Given the description of an element on the screen output the (x, y) to click on. 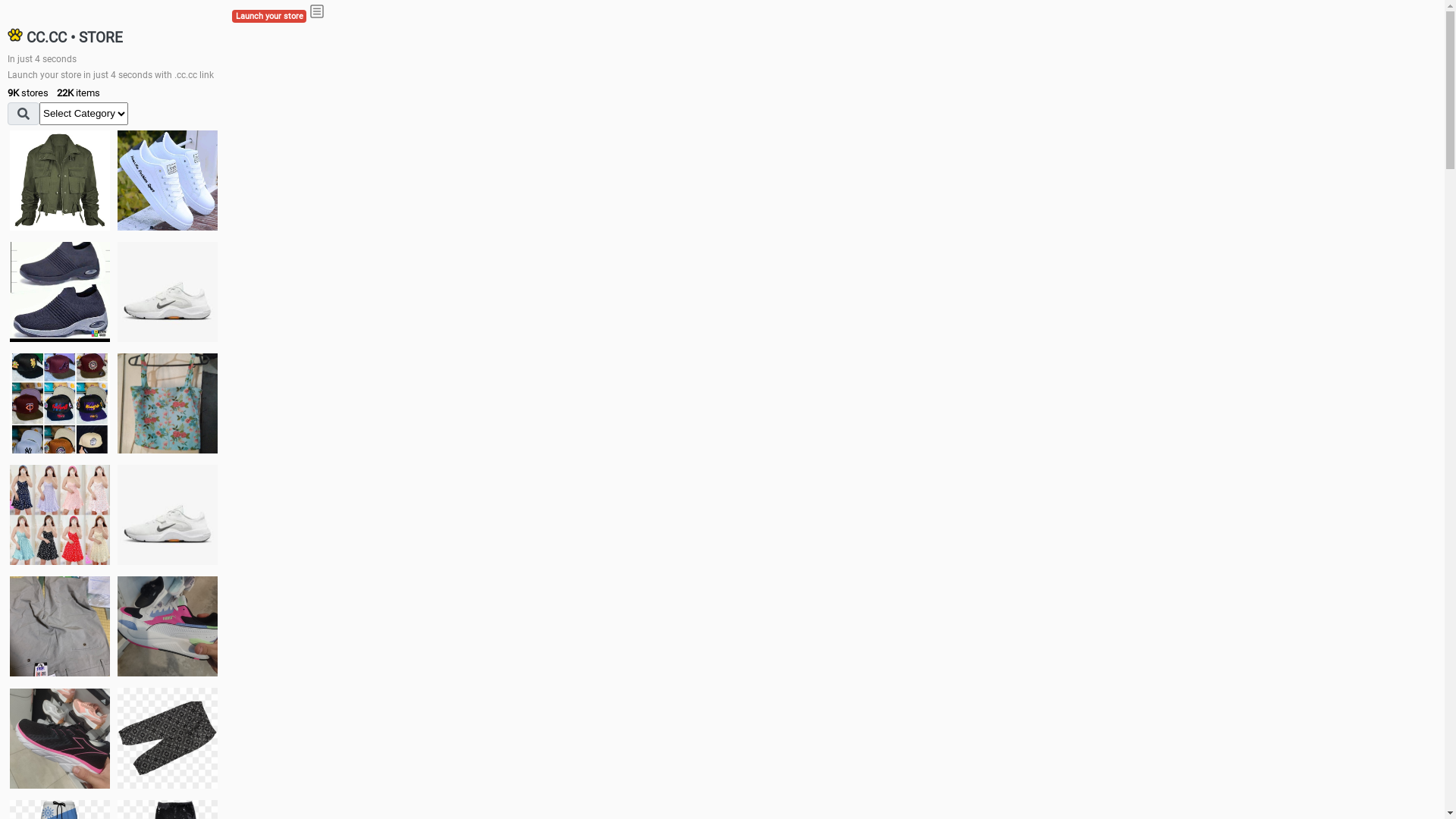
white shoes Element type: hover (167, 180)
Ukay cloth Element type: hover (167, 403)
Shoes for boys Element type: hover (167, 291)
Zapatillas pumas Element type: hover (167, 626)
Dress/square nect top Element type: hover (59, 514)
Launch your store Element type: text (269, 15)
shoes for boys Element type: hover (59, 291)
Short pant Element type: hover (167, 737)
jacket Element type: hover (59, 180)
Things we need Element type: hover (59, 403)
Zapatillas Element type: hover (59, 738)
Shoes Element type: hover (167, 514)
